Given the description of an element on the screen output the (x, y) to click on. 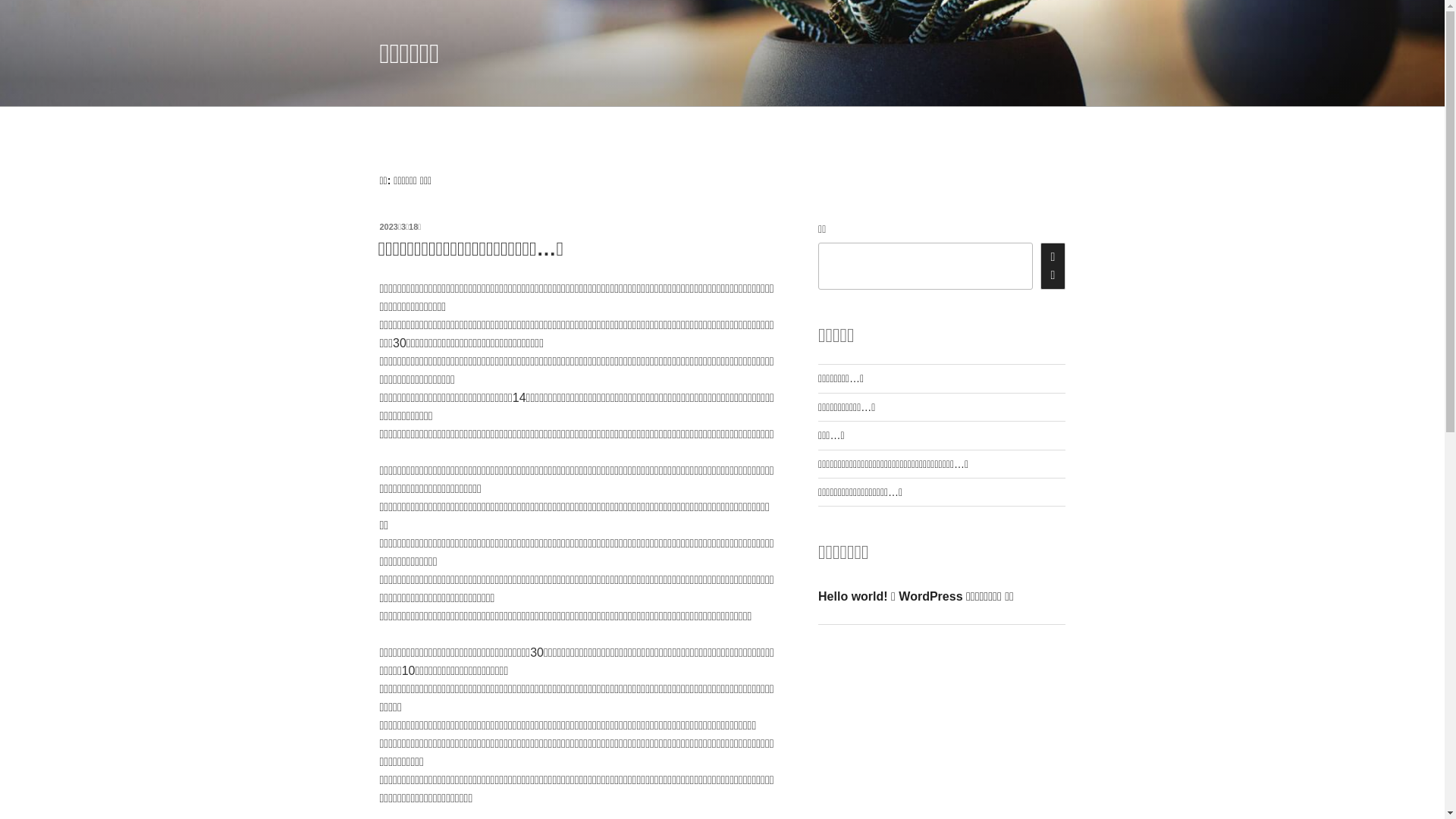
Hello world! Element type: text (853, 595)
